Given the description of an element on the screen output the (x, y) to click on. 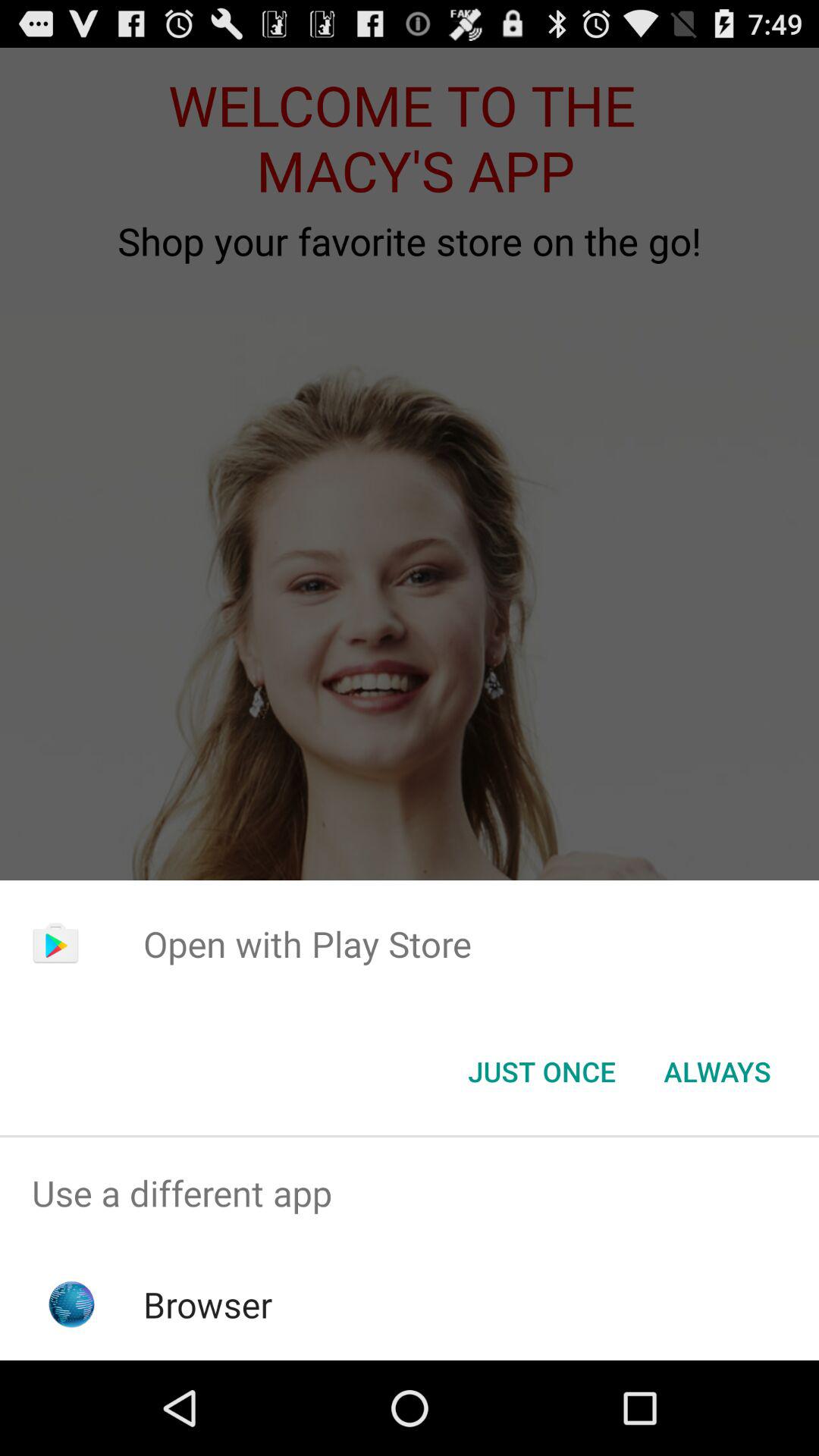
jump until just once item (541, 1071)
